Given the description of an element on the screen output the (x, y) to click on. 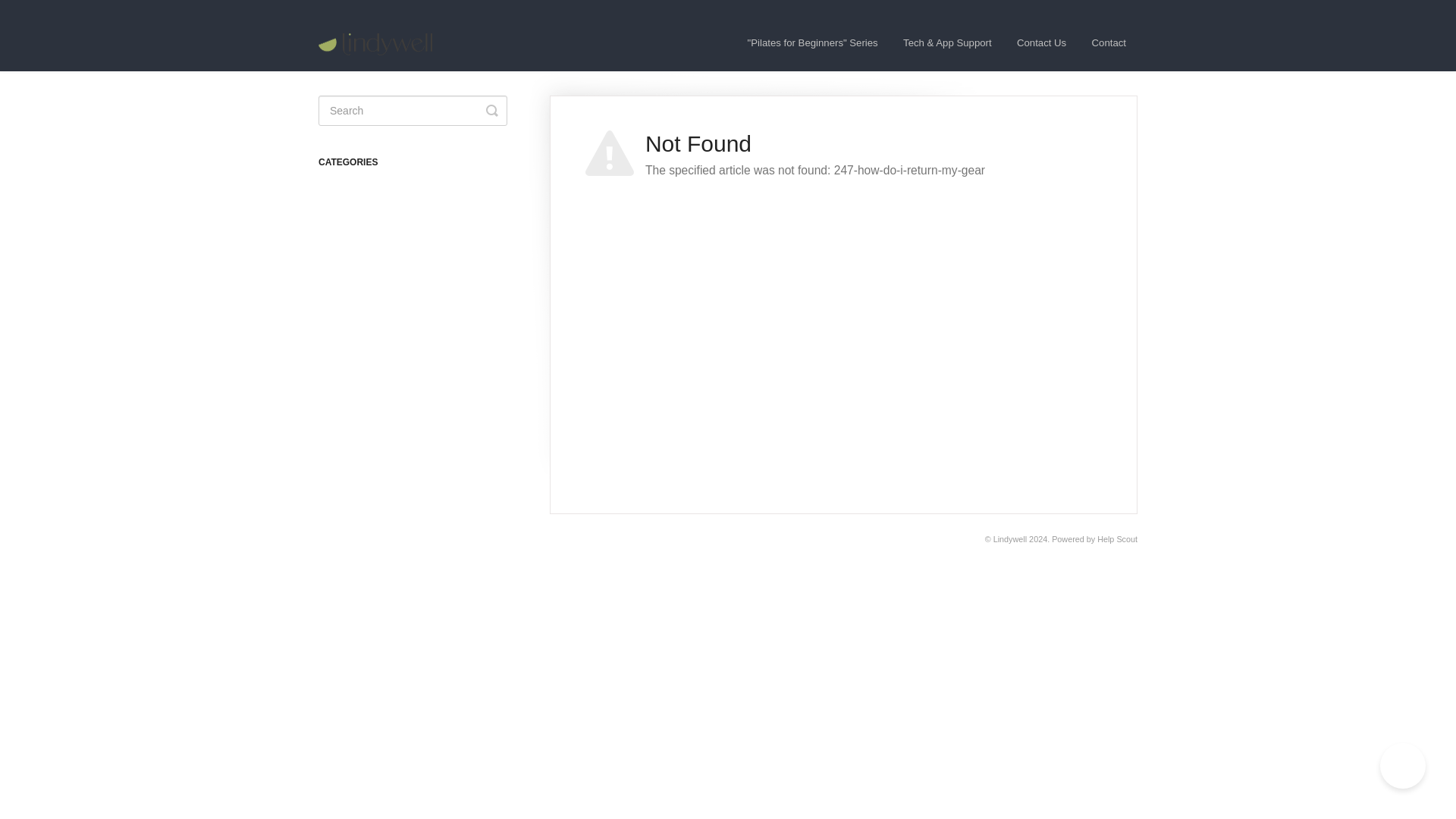
Contact Us (1041, 42)
Lindywell (1009, 538)
Help Scout (1117, 538)
search-query (412, 110)
Contact (1108, 42)
"Pilates for Beginners" Series (812, 42)
